Given the description of an element on the screen output the (x, y) to click on. 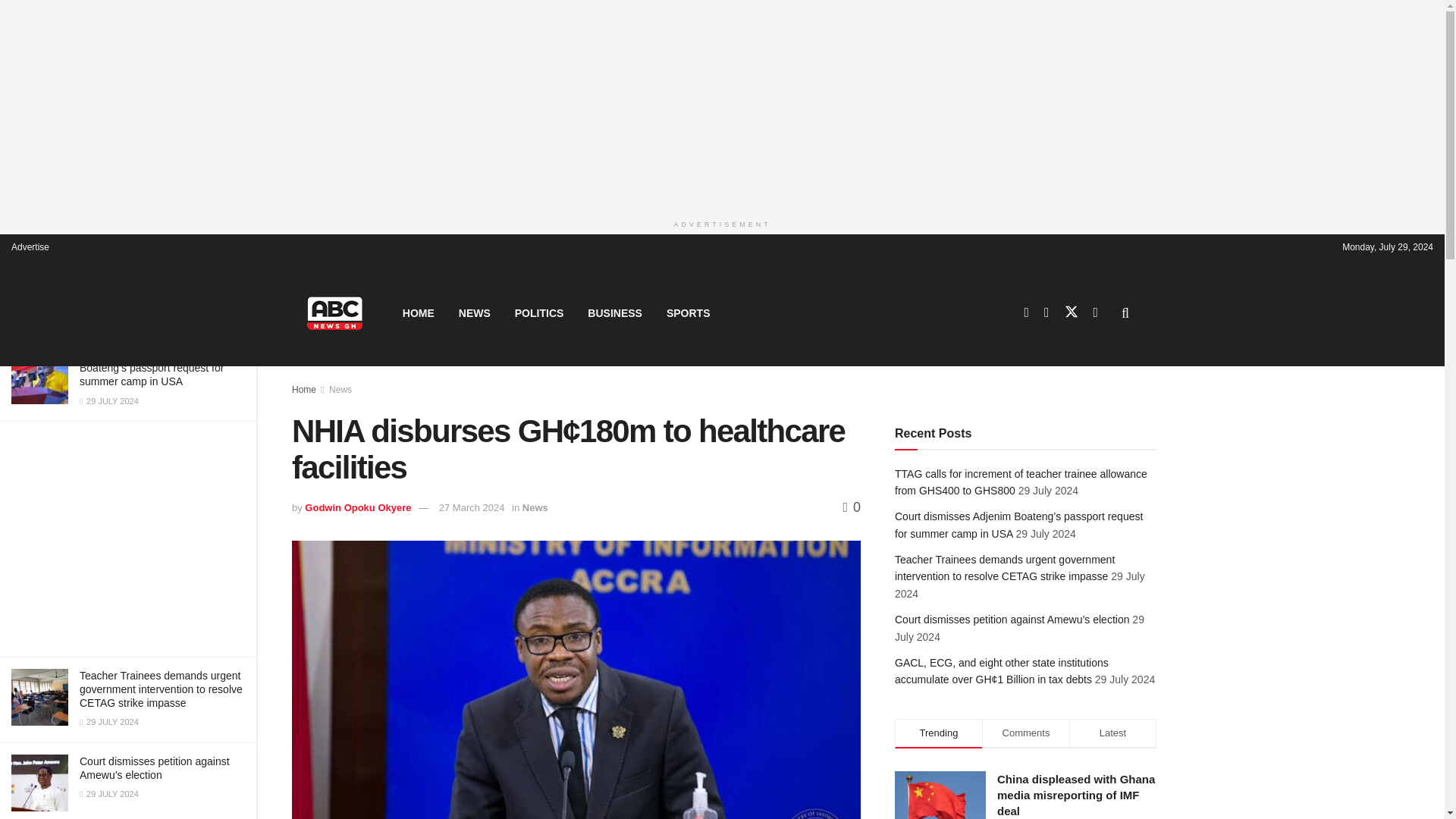
Advertisement (128, 539)
SPORTS (687, 313)
BUSINESS (614, 313)
NEWS (474, 313)
Filter (227, 94)
POLITICS (539, 313)
HOME (418, 313)
Advertise (30, 246)
